Given the description of an element on the screen output the (x, y) to click on. 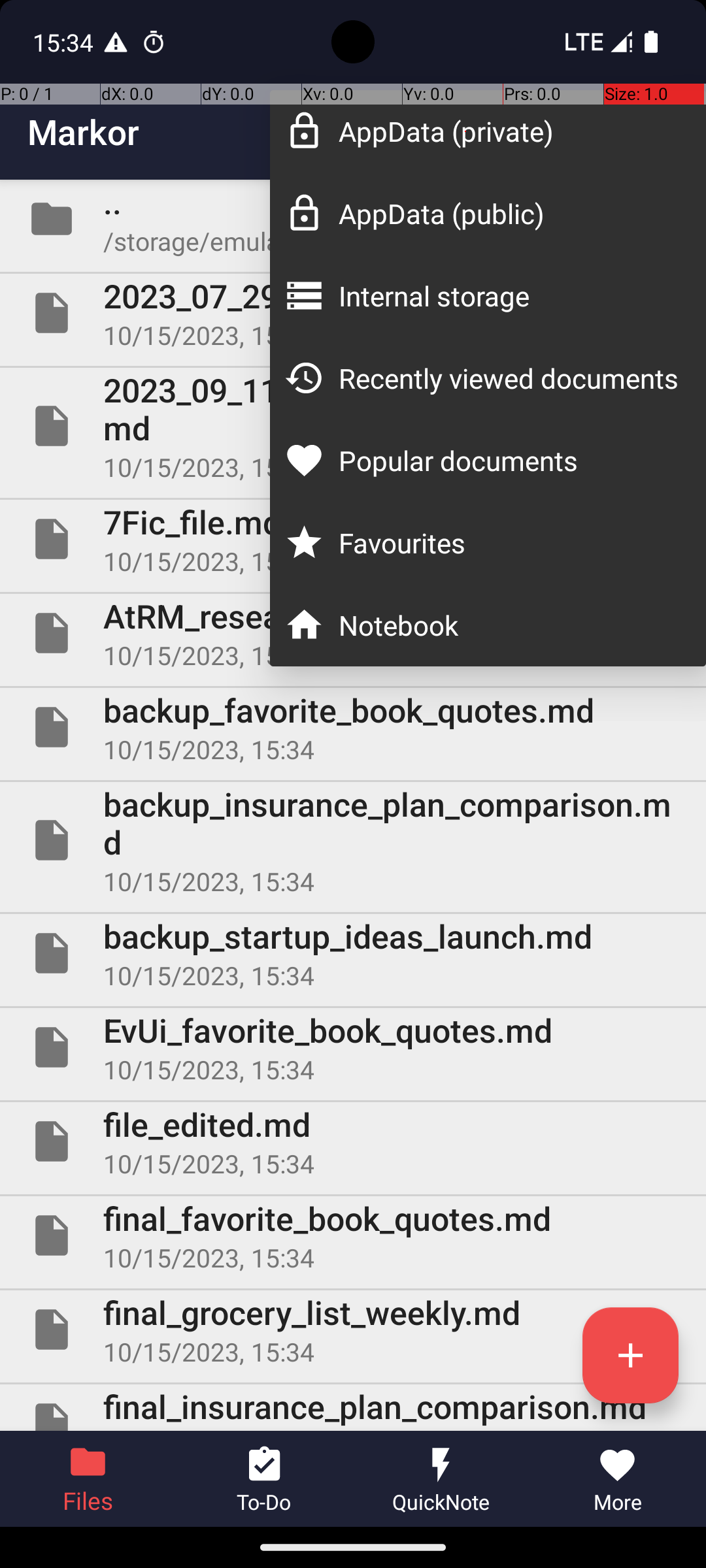
AppData (private) Element type: android.widget.TextView (508, 130)
AppData (public) Element type: android.widget.TextView (508, 212)
Internal storage Element type: android.widget.TextView (508, 295)
Recently viewed documents Element type: android.widget.TextView (508, 377)
Popular documents Element type: android.widget.TextView (508, 459)
Favourites Element type: android.widget.TextView (508, 542)
Notebook Element type: android.widget.TextView (508, 624)
